Given the description of an element on the screen output the (x, y) to click on. 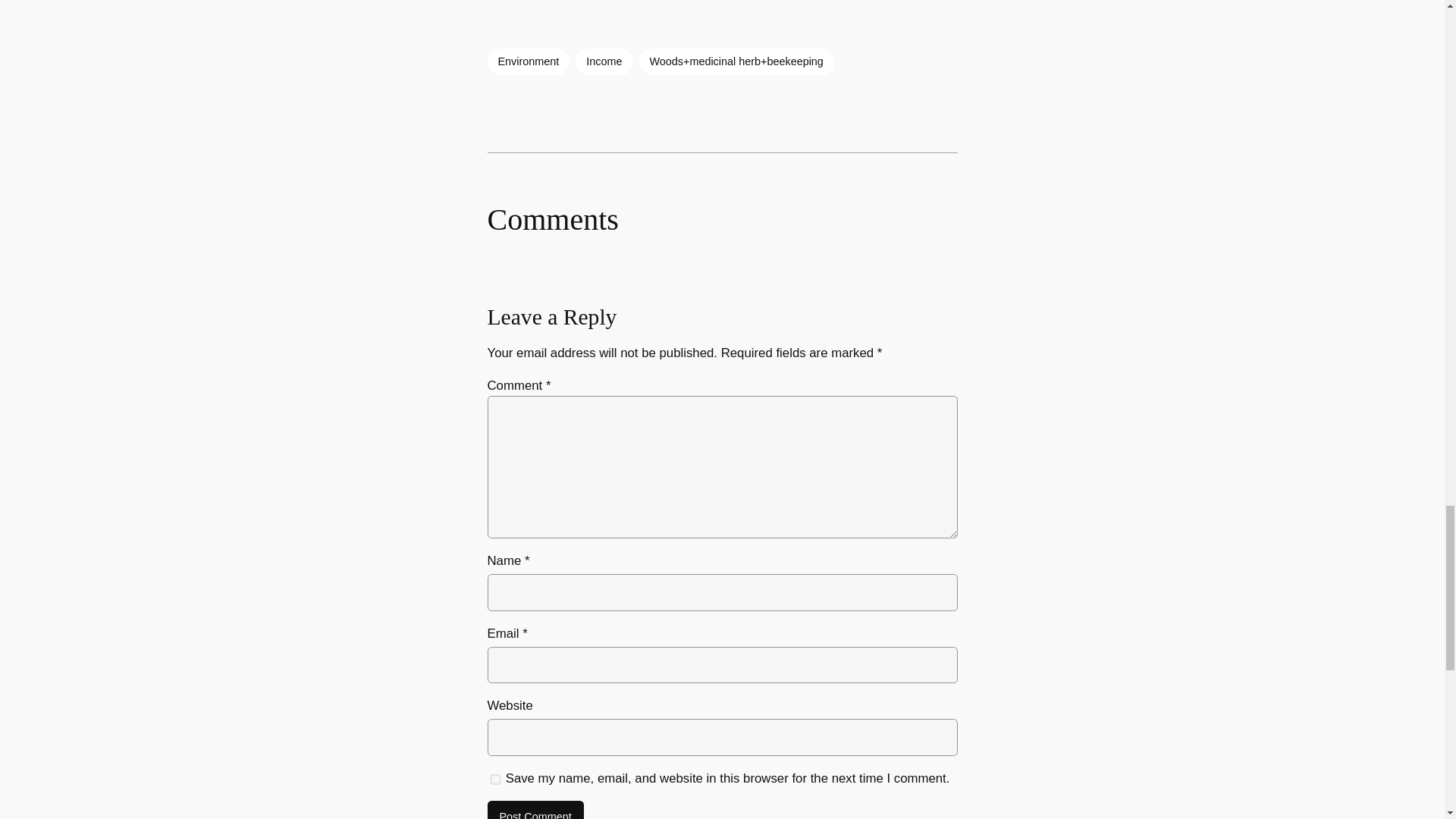
Post Comment (534, 809)
yes (494, 779)
Income (603, 61)
Environment (527, 61)
Post Comment (534, 809)
